Given the description of an element on the screen output the (x, y) to click on. 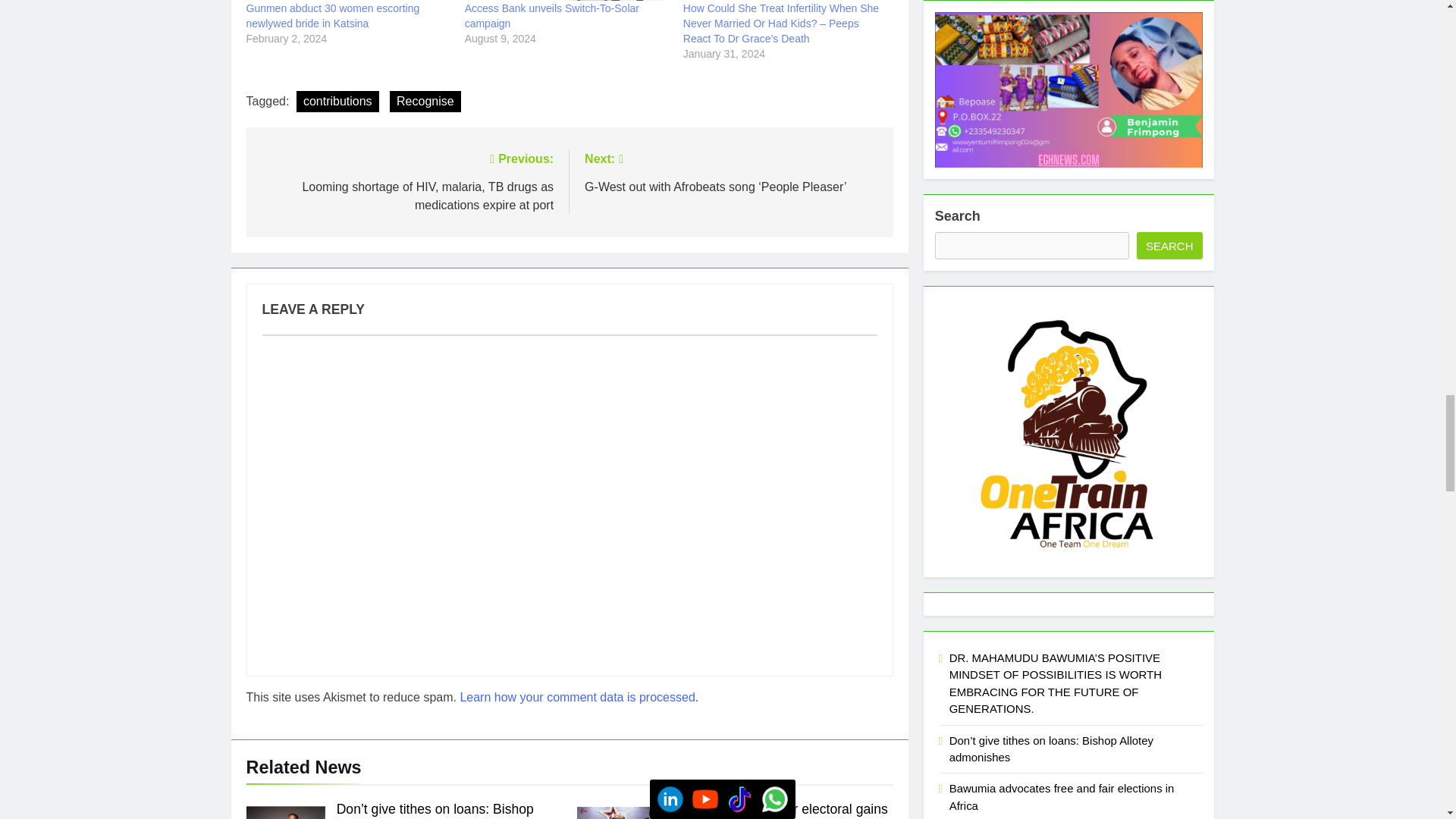
Gunmen abduct 30 women escorting newlywed bride in Katsina (332, 15)
Access Bank unveils Switch-To-Solar campaign (551, 15)
